Given the description of an element on the screen output the (x, y) to click on. 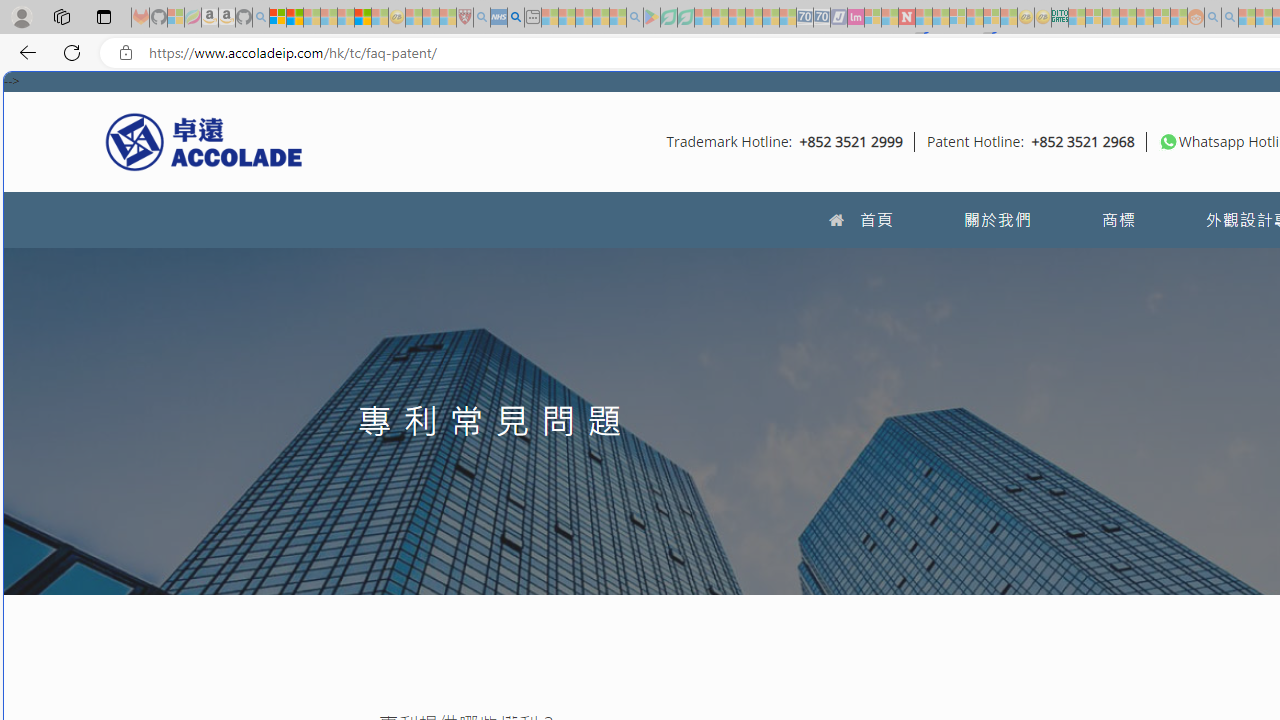
Bluey: Let's Play! - Apps on Google Play - Sleeping (651, 17)
